Given the description of an element on the screen output the (x, y) to click on. 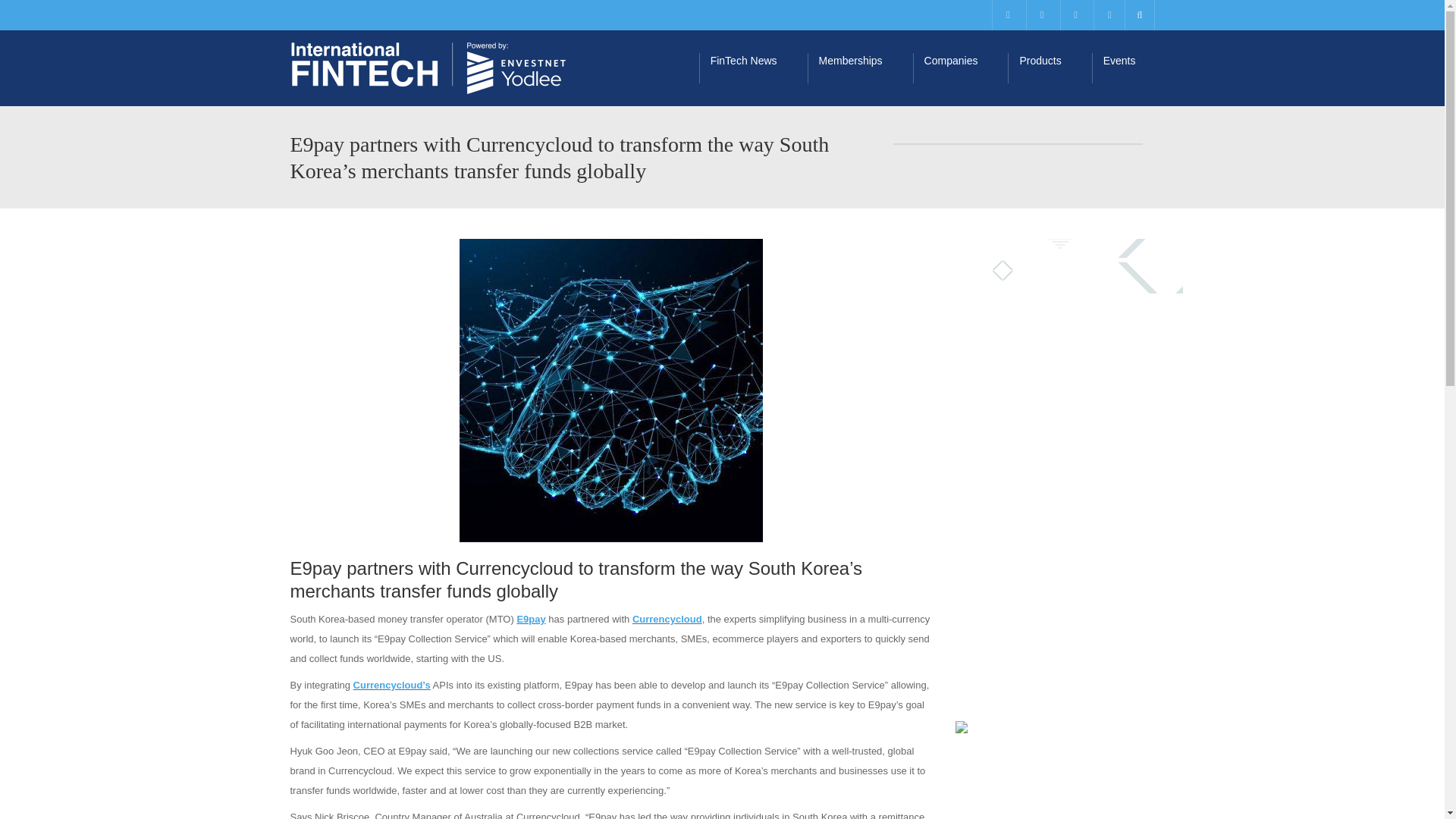
FinTech News (753, 68)
Products (1048, 68)
Companies (960, 68)
Memberships (860, 68)
E9pay (530, 618)
Events (1129, 68)
